Given the description of an element on the screen output the (x, y) to click on. 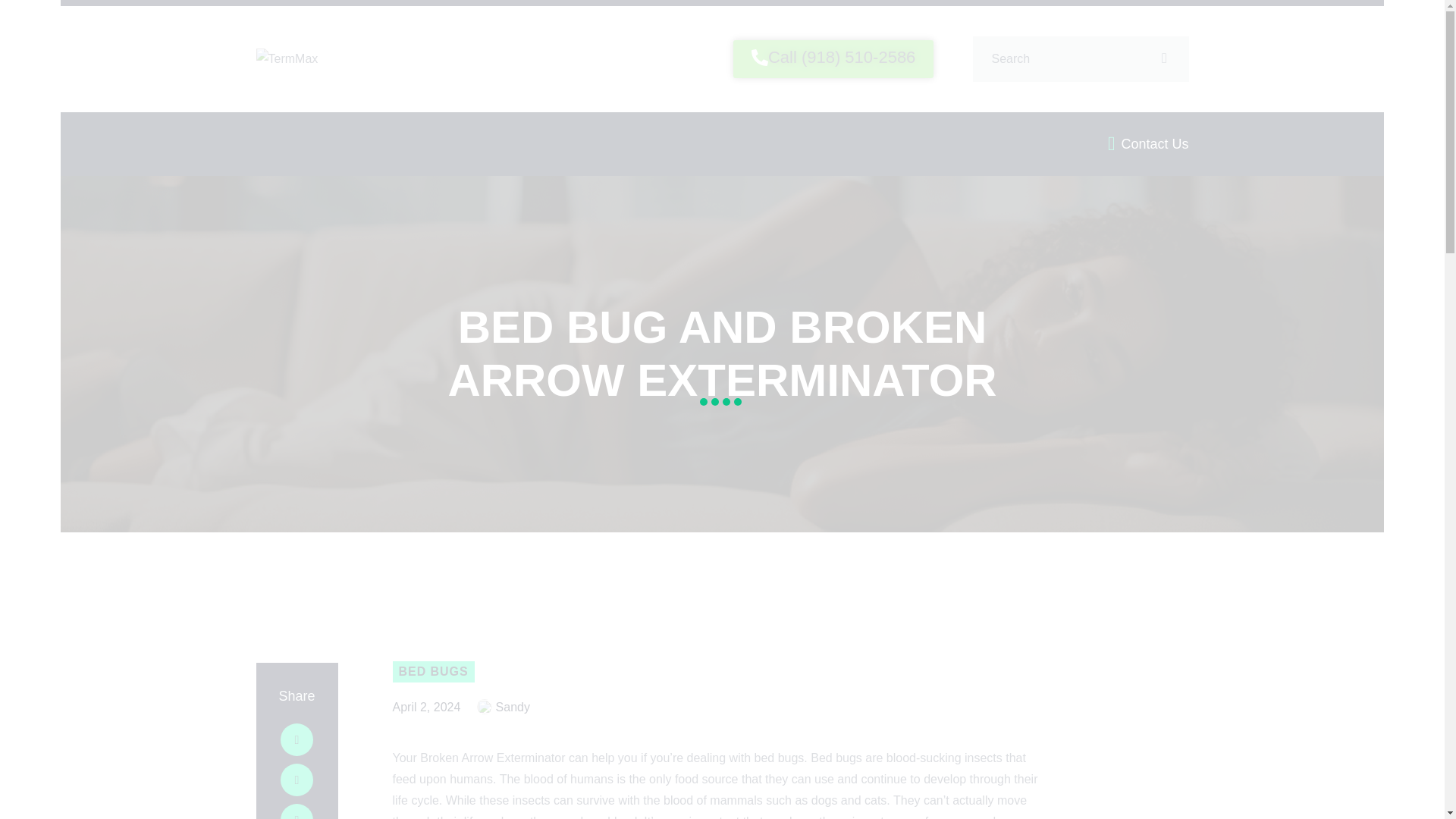
Contact Us (1148, 143)
